Given the description of an element on the screen output the (x, y) to click on. 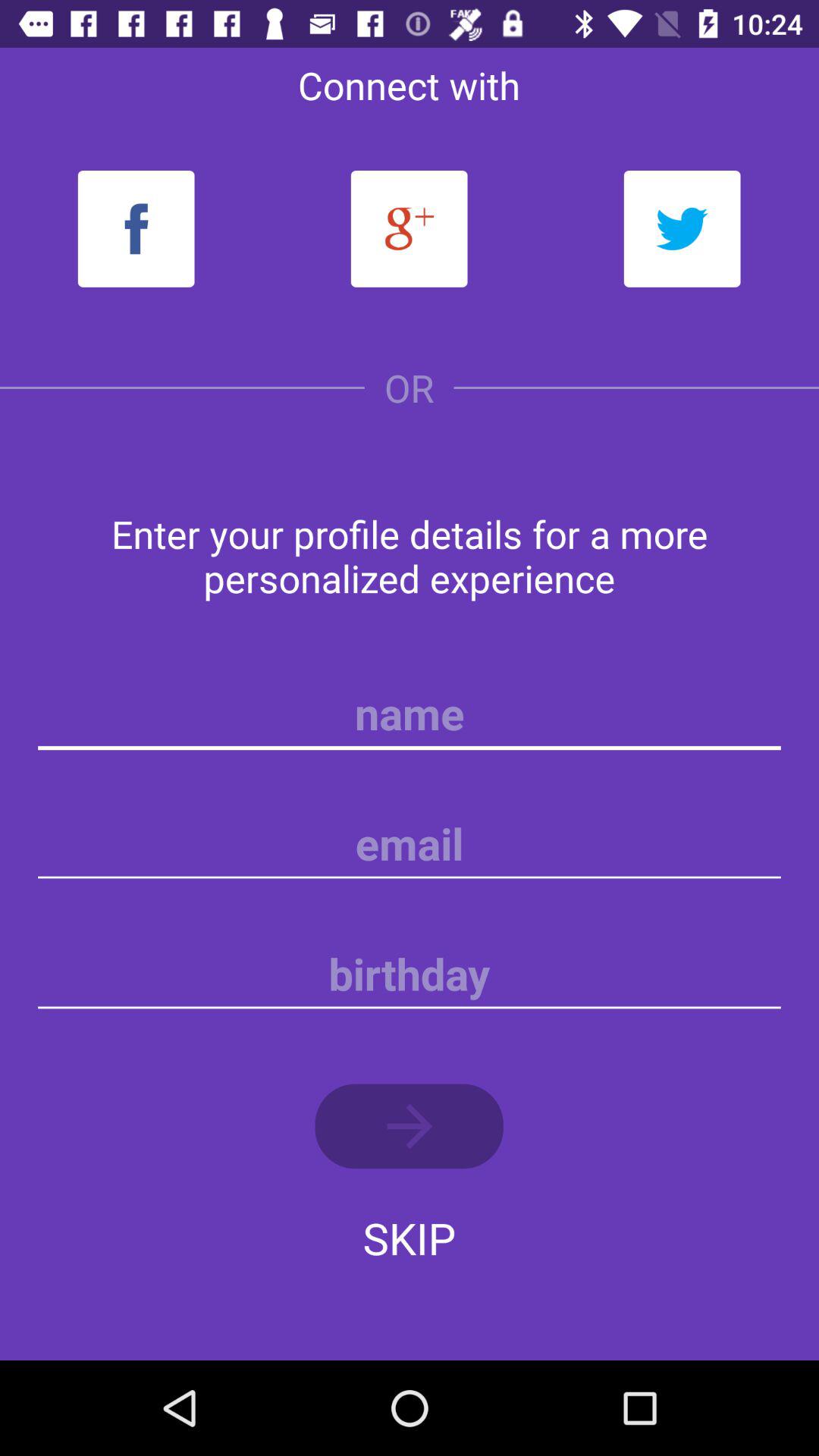
add a note (409, 843)
